Given the description of an element on the screen output the (x, y) to click on. 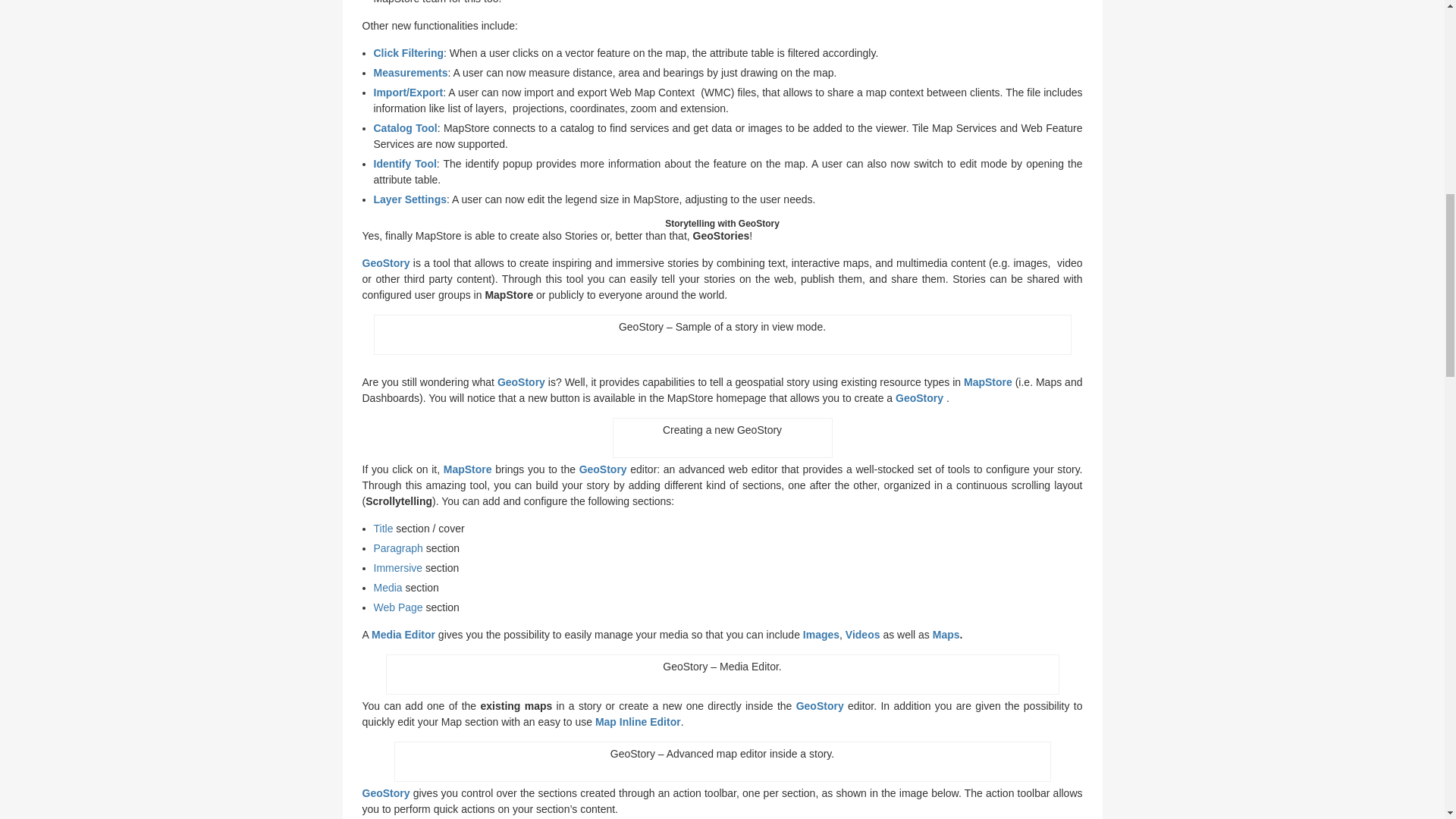
Layer Settings (408, 199)
Catalog Tool (404, 128)
Measurements (409, 72)
GeoStory (386, 263)
Click Filtering (408, 52)
Identify Tool (403, 163)
